Given the description of an element on the screen output the (x, y) to click on. 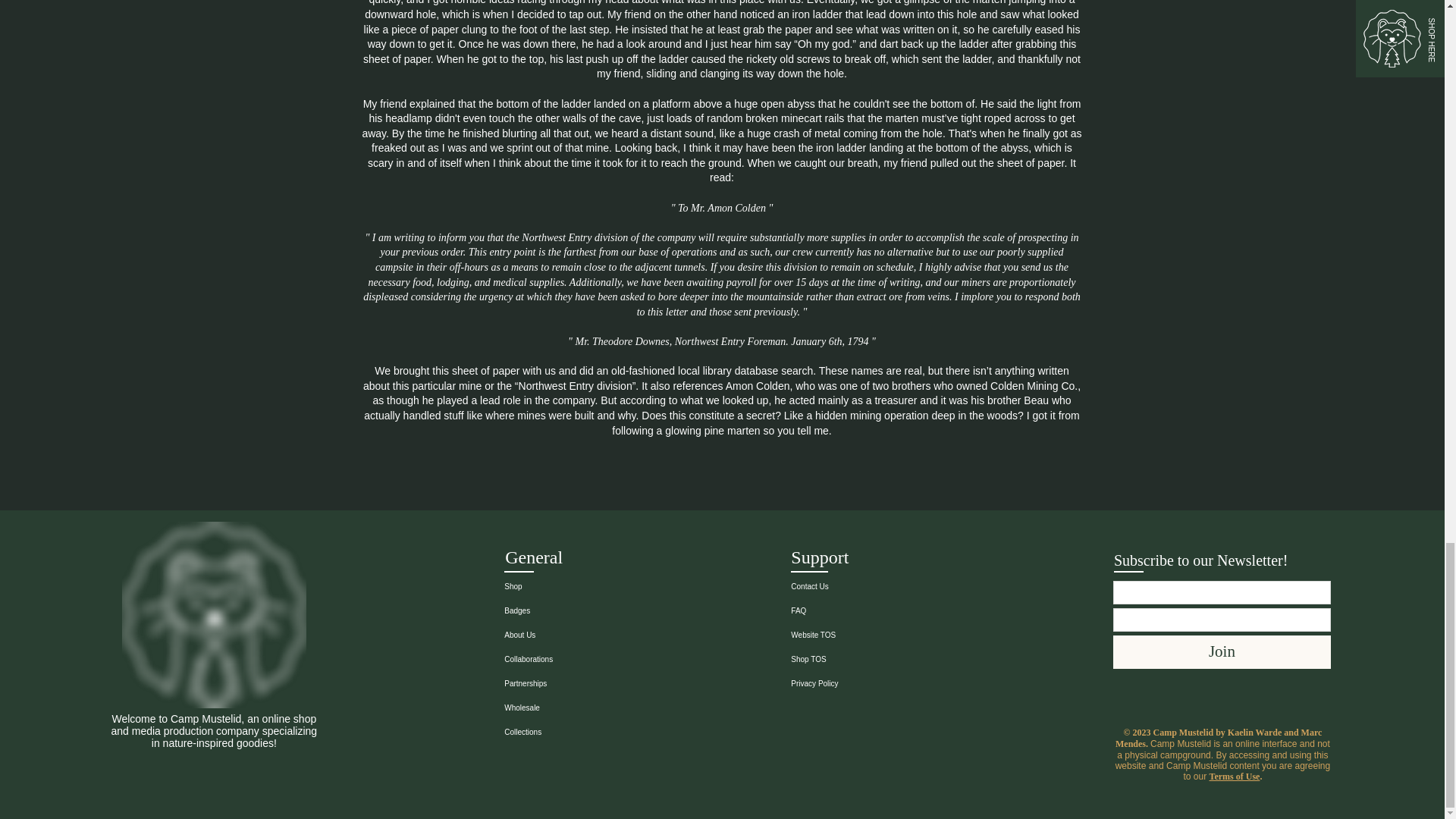
Collections (570, 732)
Badges (570, 610)
Wholesale (570, 708)
About Us (570, 635)
FAQ (856, 610)
Shop (570, 586)
Partnerships (570, 683)
Contact Us (856, 586)
Collaborations (570, 659)
